Given the description of an element on the screen output the (x, y) to click on. 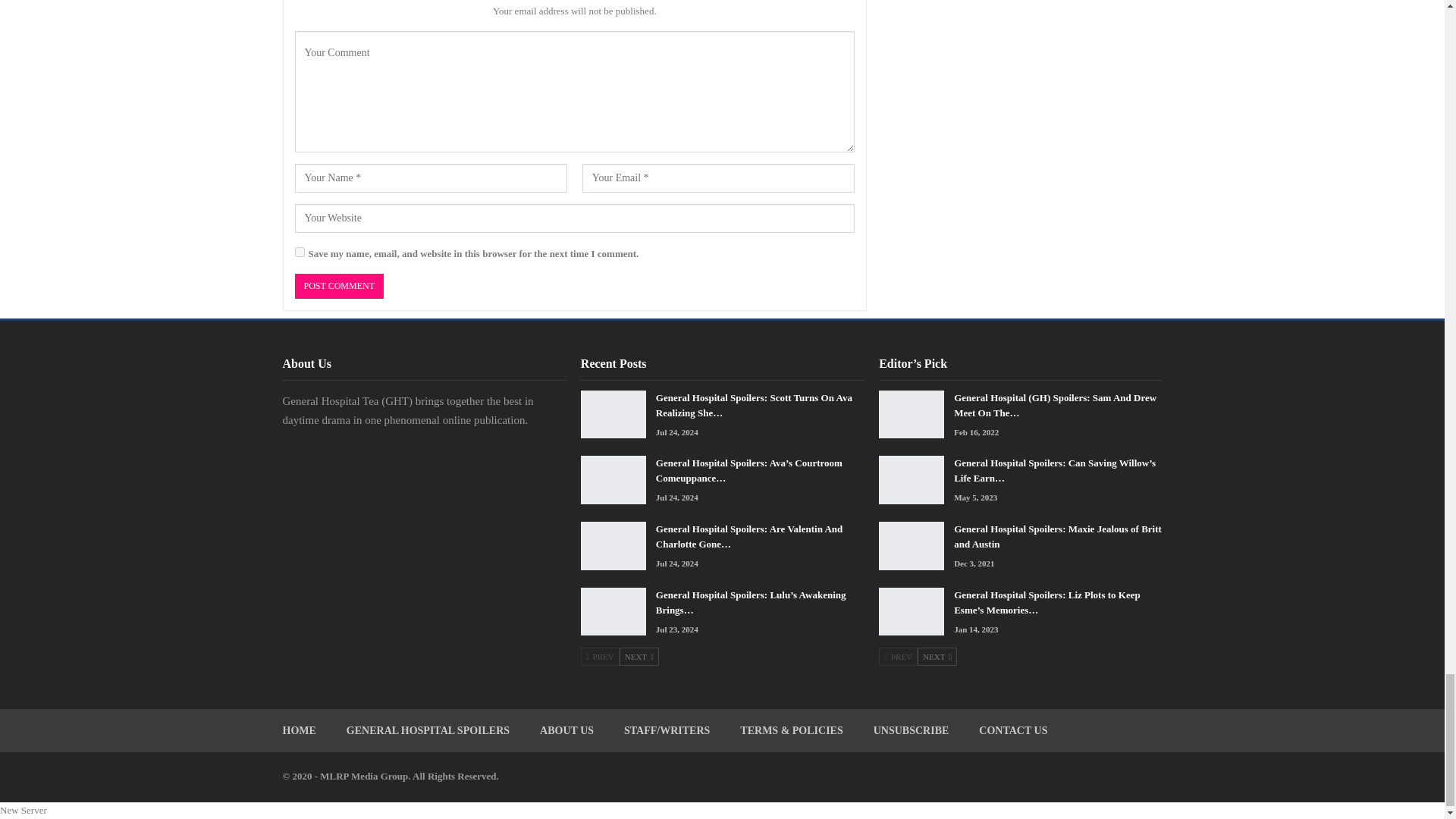
yes (299, 252)
Post Comment (338, 285)
